Given the description of an element on the screen output the (x, y) to click on. 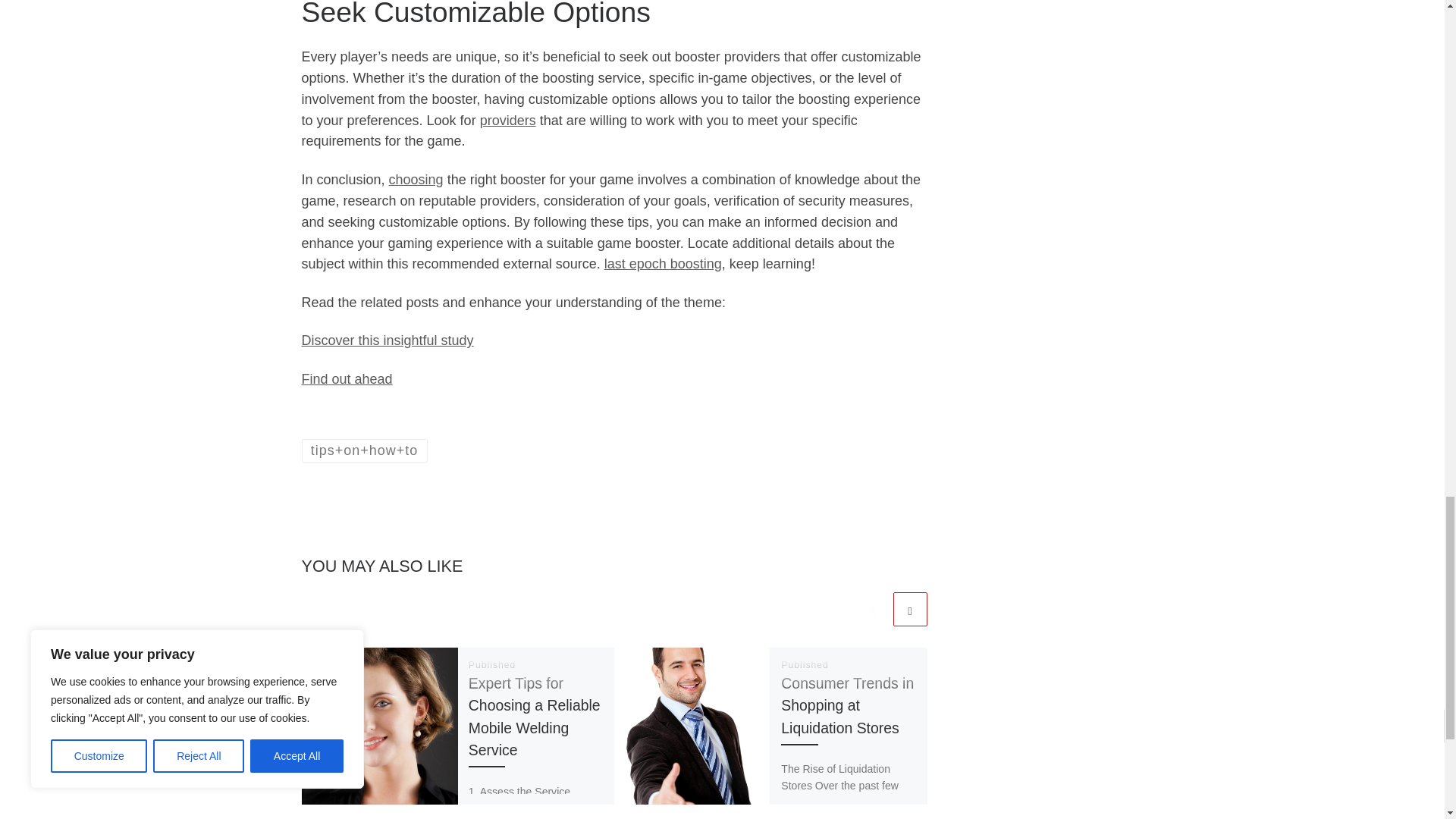
Discover this insightful study (387, 340)
choosing (416, 179)
Previous related articles (872, 609)
Next related articles (910, 609)
Find out ahead (347, 378)
last epoch boosting (663, 263)
providers (507, 120)
